Given the description of an element on the screen output the (x, y) to click on. 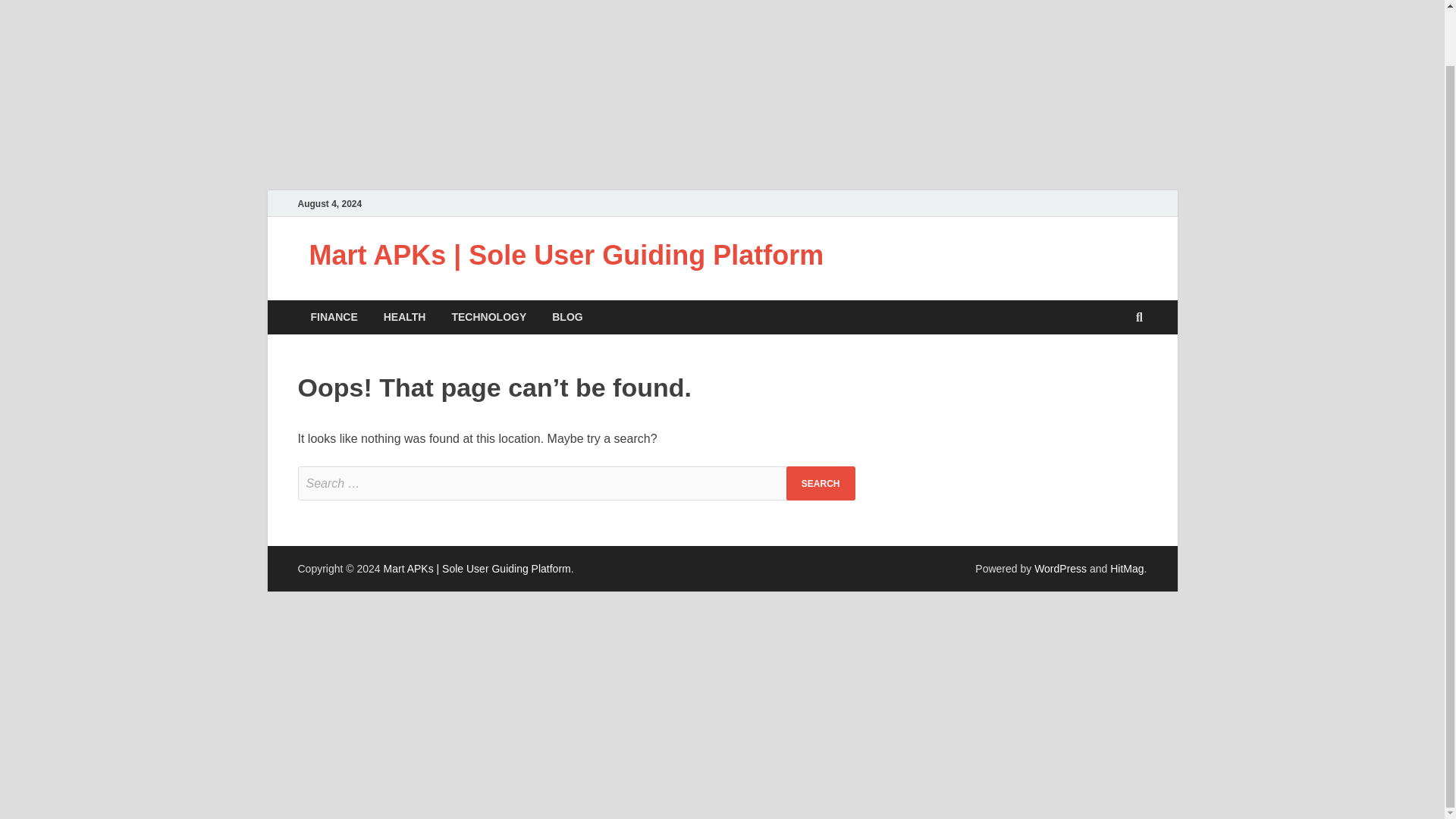
WordPress (1059, 568)
BLOG (566, 317)
Search (821, 483)
Search (821, 483)
FINANCE (333, 317)
WordPress (1059, 568)
HEALTH (405, 317)
HitMag WordPress Theme (1125, 568)
Search (821, 483)
HitMag (1125, 568)
TECHNOLOGY (488, 317)
